Given the description of an element on the screen output the (x, y) to click on. 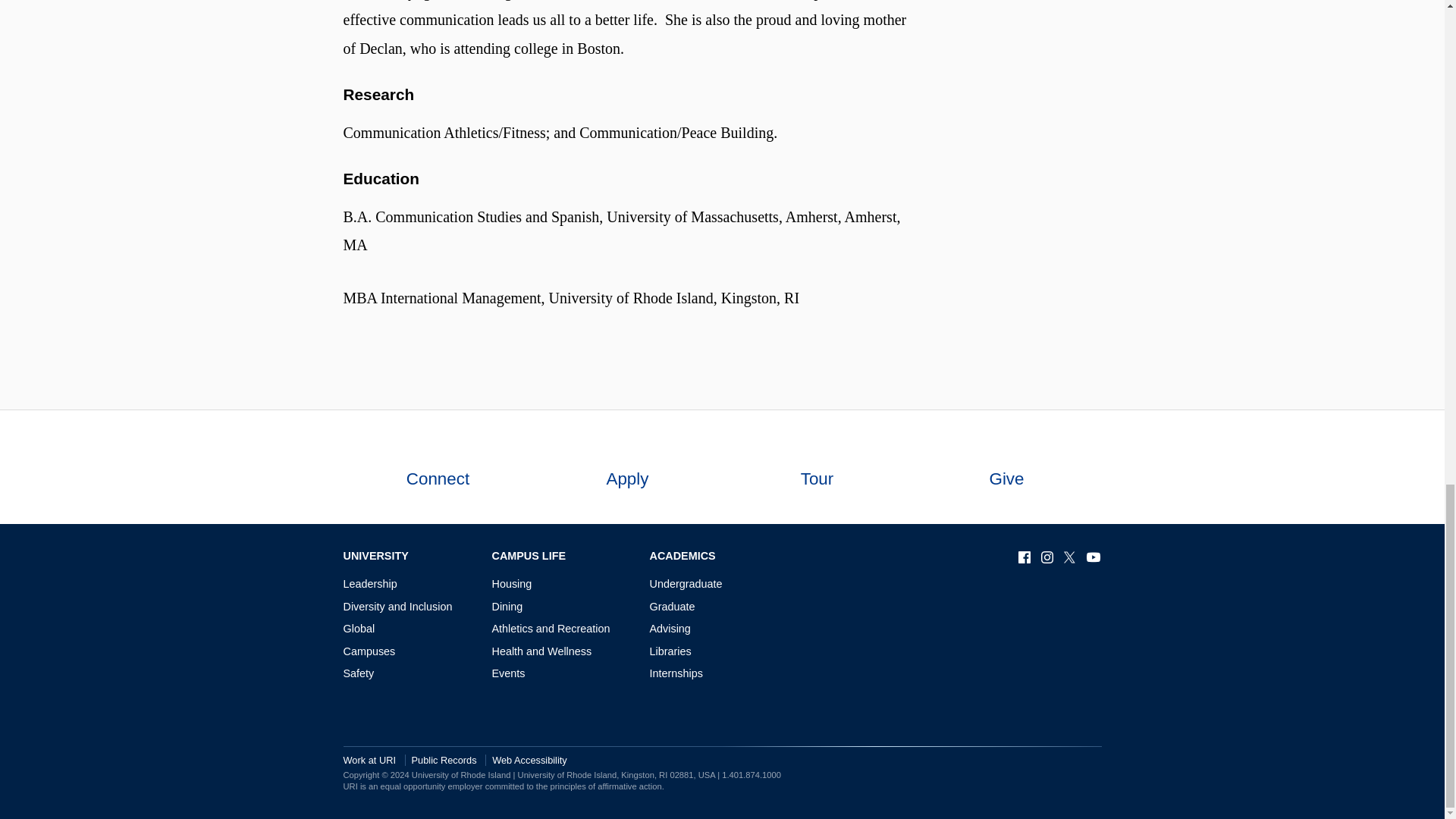
Dining (507, 606)
YouTube (1093, 557)
Learn more about URI: Get in touch (437, 449)
Give (1005, 467)
Instagram (1048, 557)
Diversity and Inclusion (396, 606)
Connect (437, 467)
Tour (816, 467)
Athletics and Recreation (551, 628)
Global (358, 628)
Leadership (369, 583)
Apply (627, 467)
Campuses (368, 651)
Housing (511, 583)
Facebook (1024, 557)
